Given the description of an element on the screen output the (x, y) to click on. 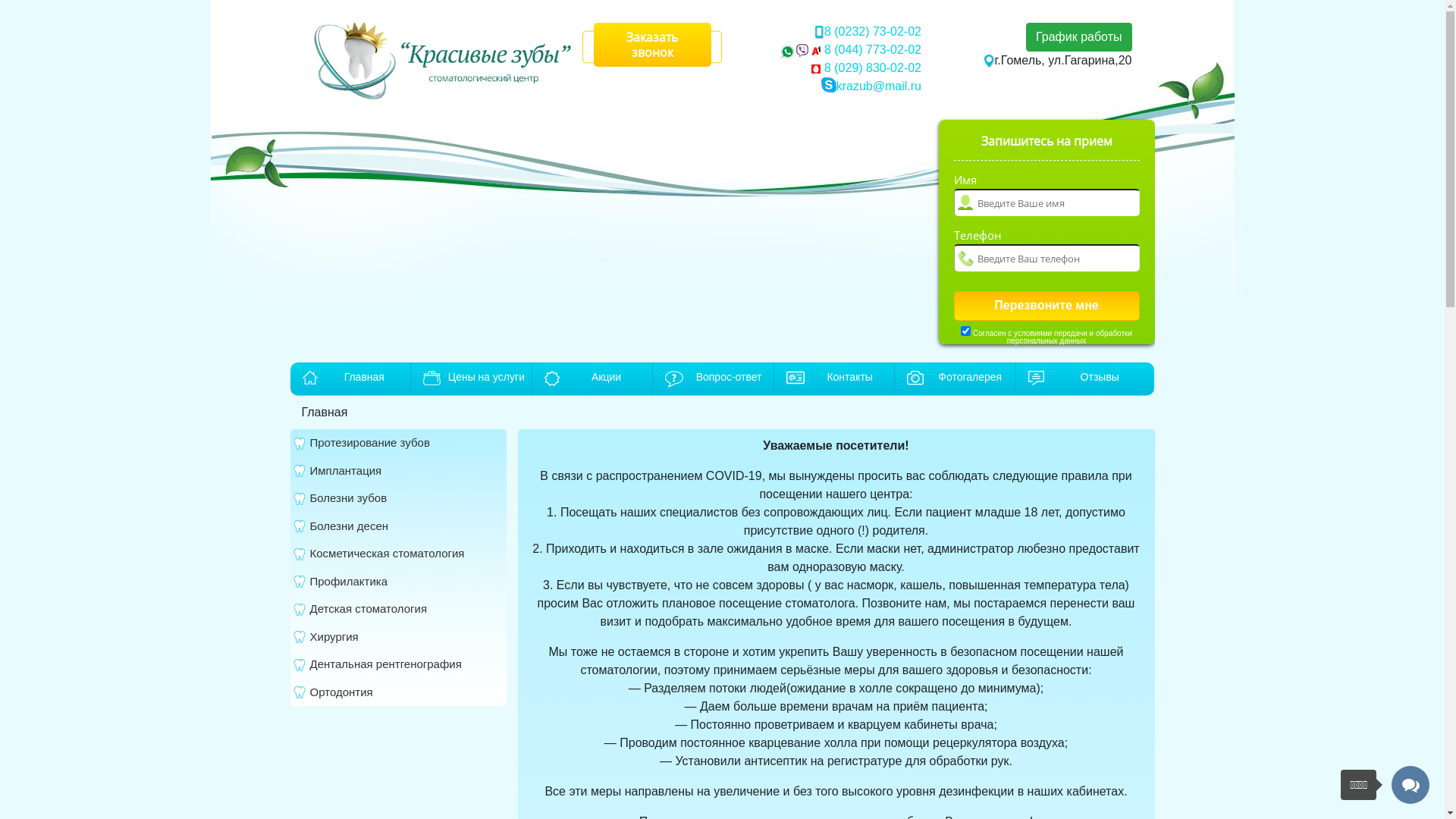
8 (0232) 73-02-02 Element type: text (872, 31)
8 (029) 830-02-02 Element type: text (870, 67)
8 (044) 773-02-02 Element type: text (870, 49)
krazub@mail.ru Element type: text (878, 85)
